Given the description of an element on the screen output the (x, y) to click on. 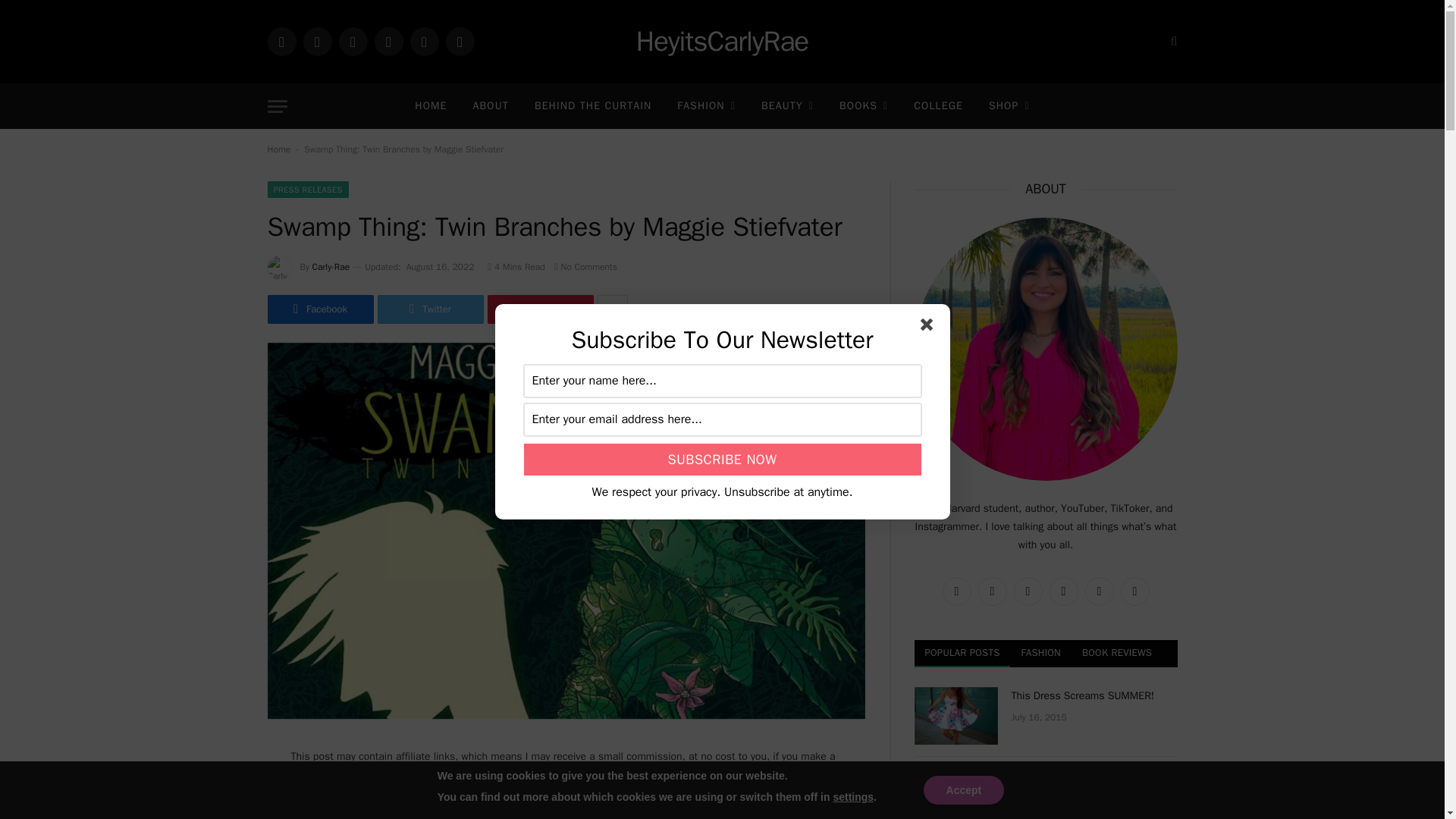
Share on Facebook (319, 308)
SHOP (1008, 105)
YouTube (459, 41)
BOOKS (864, 105)
Facebook (351, 41)
Instagram (280, 41)
COLLEGE (938, 105)
FASHION (705, 105)
BEAUTY (787, 105)
HOME (430, 105)
BEHIND THE CURTAIN (592, 105)
Share on Pinterest (539, 308)
Swamp Thing: Twin Branches by Maggie Stiefvater (565, 715)
Show More Social Sharing (611, 308)
